Given the description of an element on the screen output the (x, y) to click on. 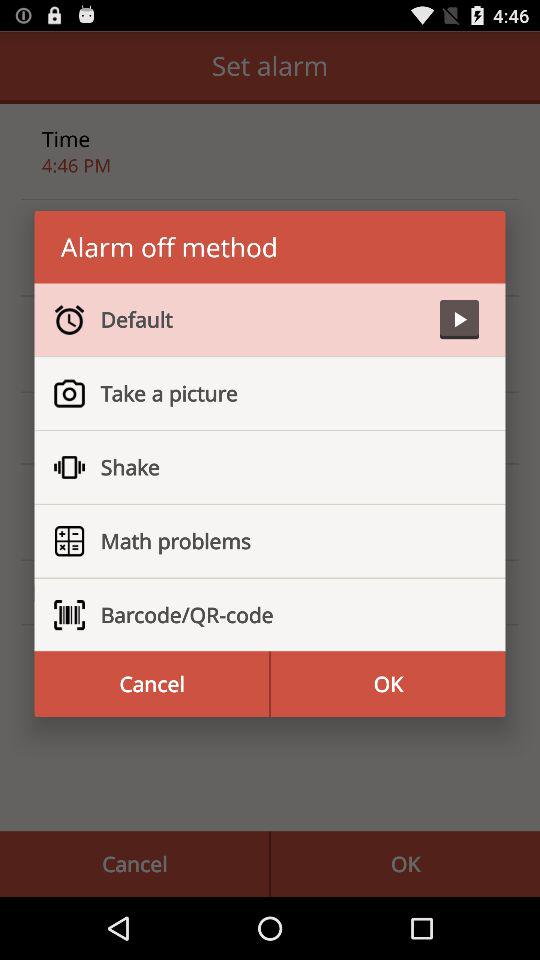
turn off the item at the top right corner (459, 319)
